Given the description of an element on the screen output the (x, y) to click on. 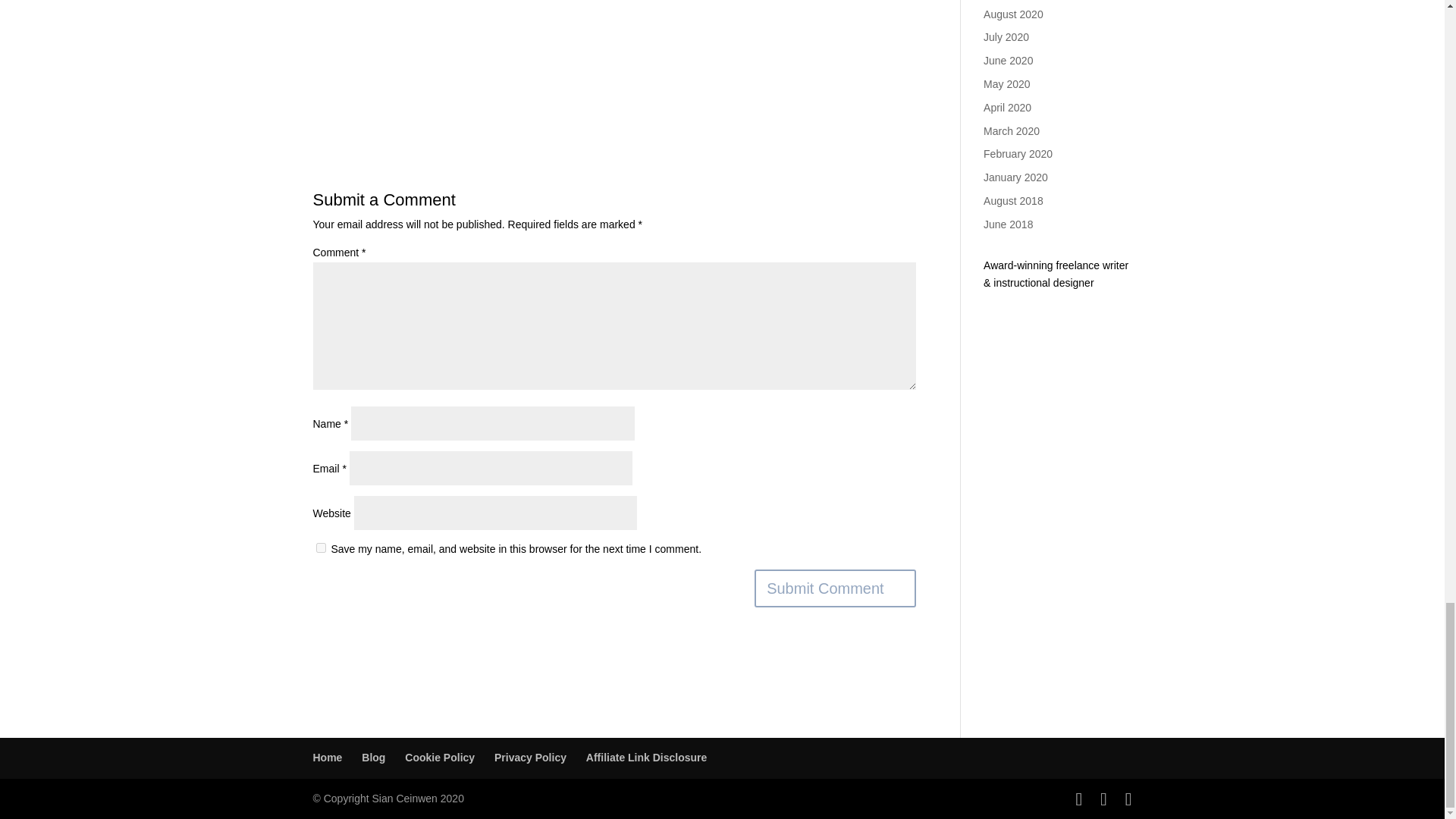
yes (319, 547)
Submit Comment (834, 588)
Submit Comment (834, 588)
